Given the description of an element on the screen output the (x, y) to click on. 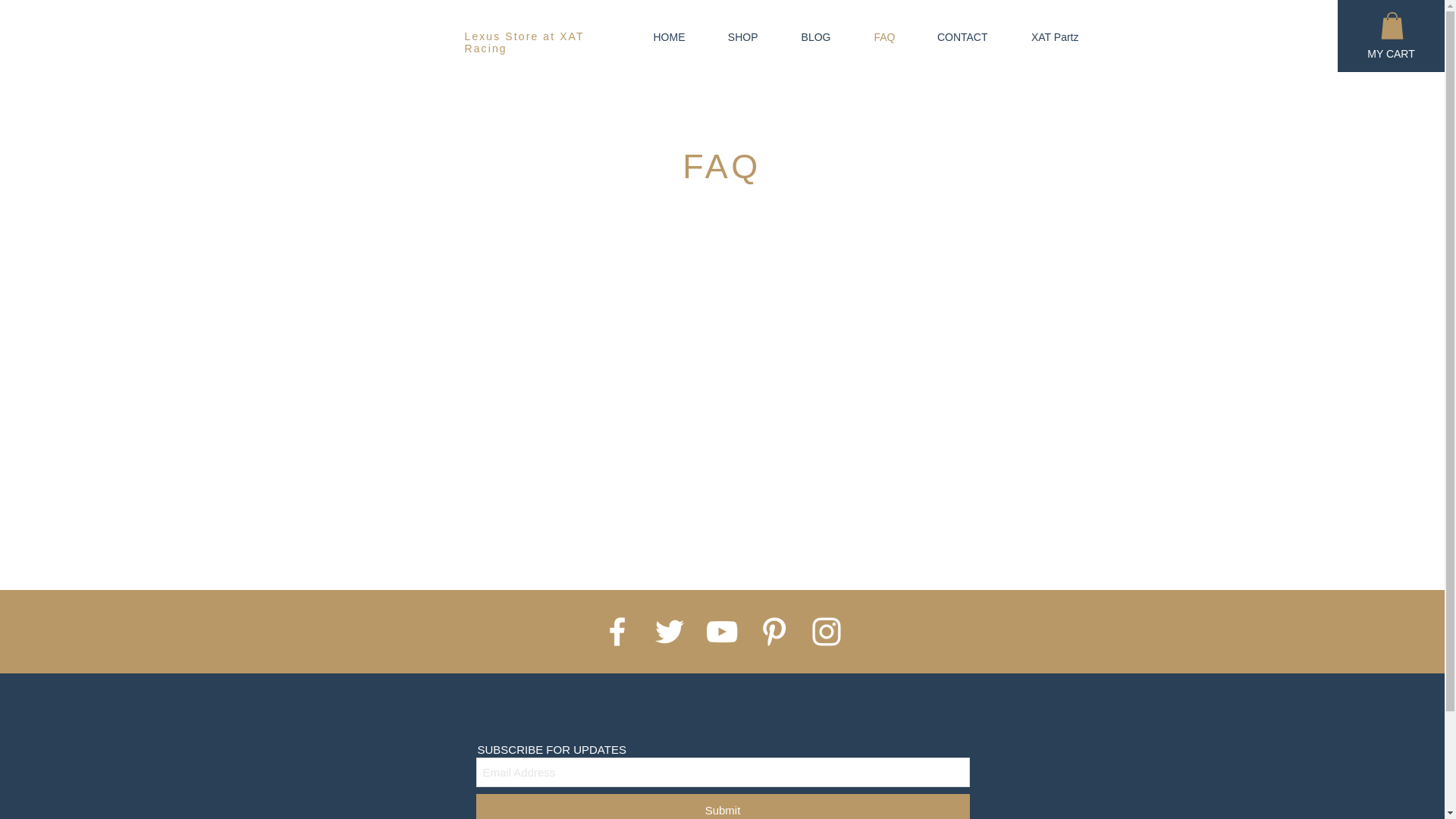
SHOP (731, 36)
HOME (658, 36)
XAT Partz (1044, 36)
FAQ (873, 36)
Lexus Store at XAT Racing (523, 42)
CONTACT (952, 36)
Submit (722, 806)
BLOG (804, 36)
